Given the description of an element on the screen output the (x, y) to click on. 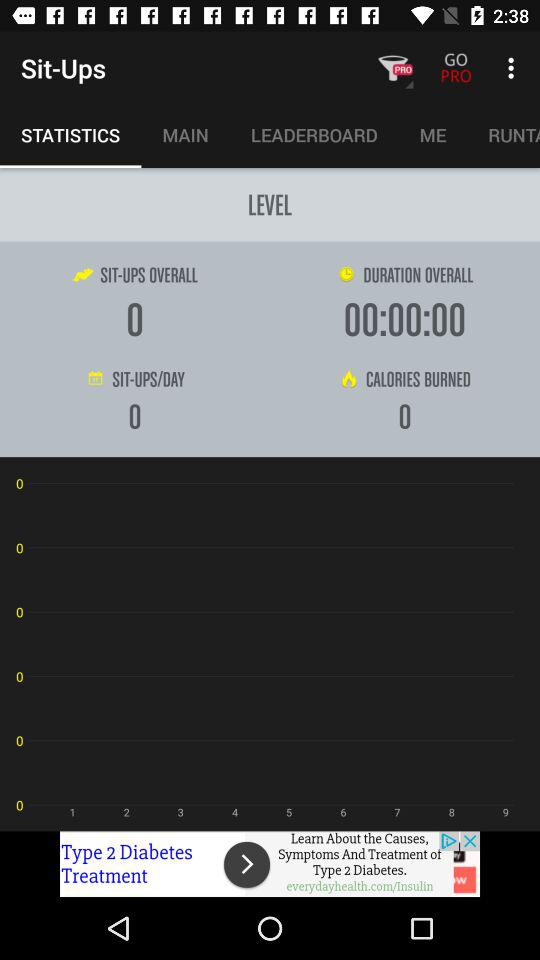
this is add banner in app (270, 864)
